Given the description of an element on the screen output the (x, y) to click on. 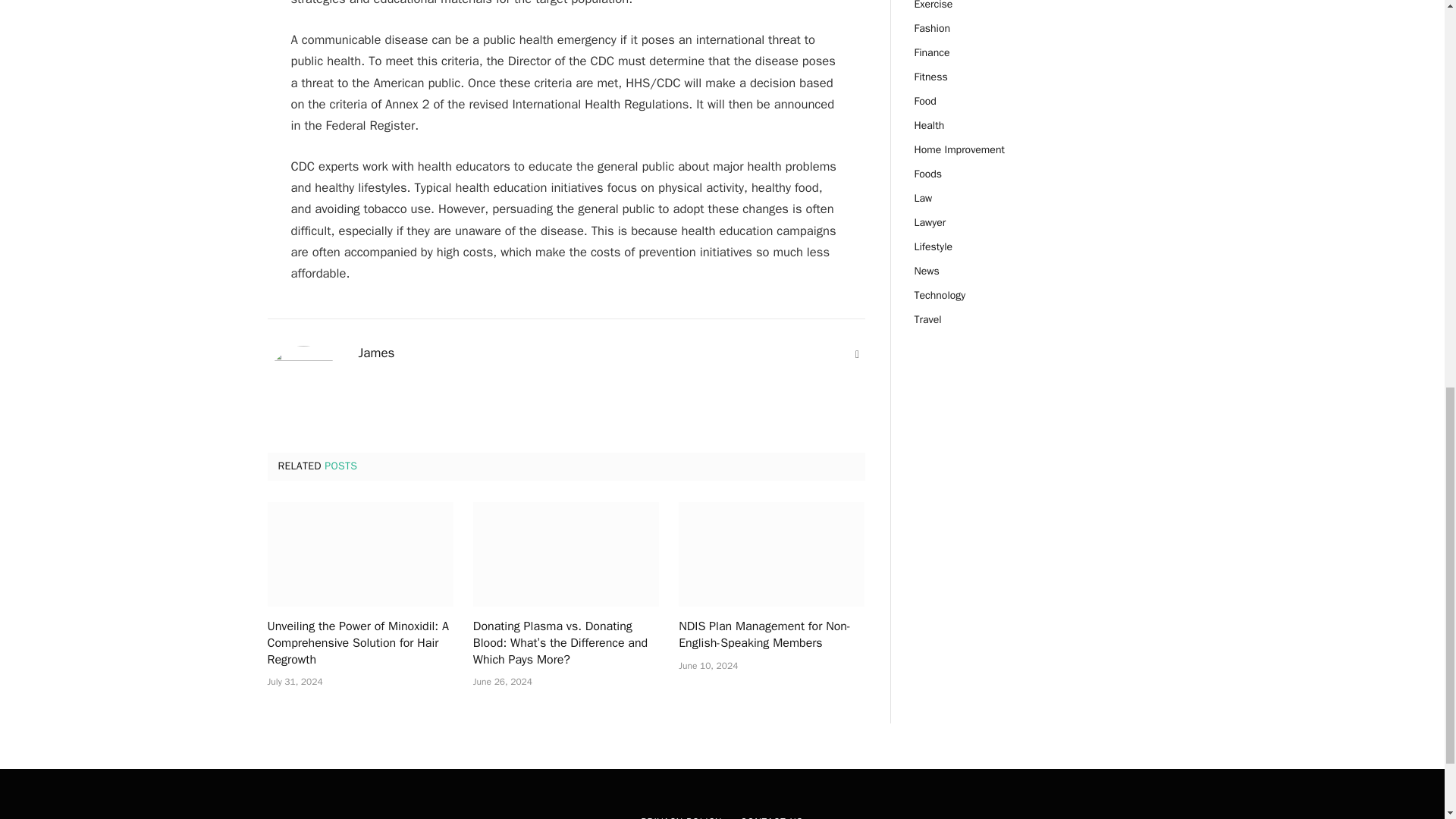
NDIS Plan Management for Non-English-Speaking Members (771, 554)
Website (856, 354)
Posts by James (376, 353)
James (376, 353)
NDIS Plan Management for Non-English-Speaking Members (771, 635)
Website (856, 354)
